Given the description of an element on the screen output the (x, y) to click on. 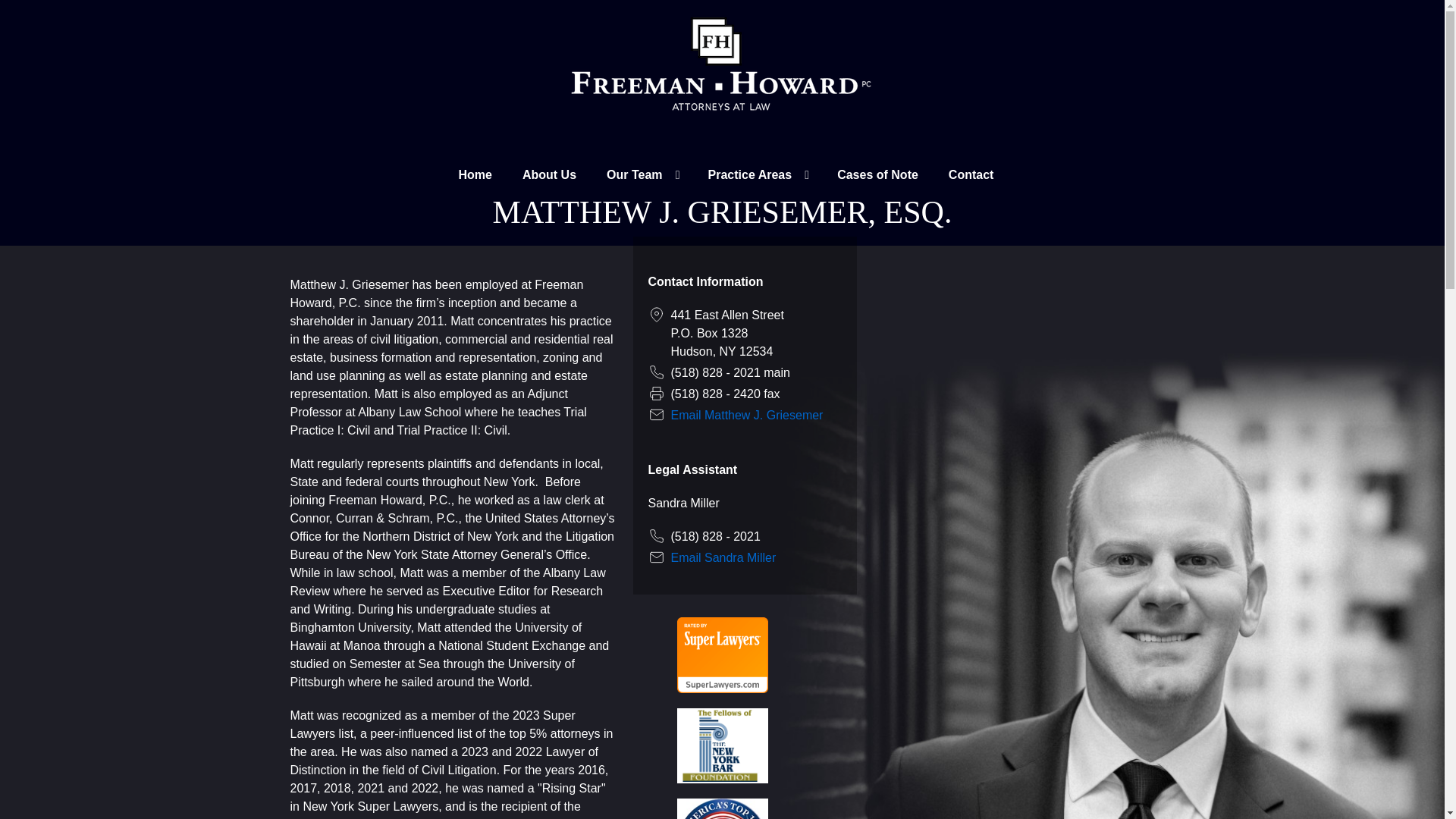
Our Team (642, 175)
About Us (548, 175)
Contact (971, 175)
Email Matthew J. Griesemer (745, 414)
Practice Areas (757, 175)
Email Sandra Miller (722, 557)
Cases of Note (877, 175)
Home (474, 175)
